Given the description of an element on the screen output the (x, y) to click on. 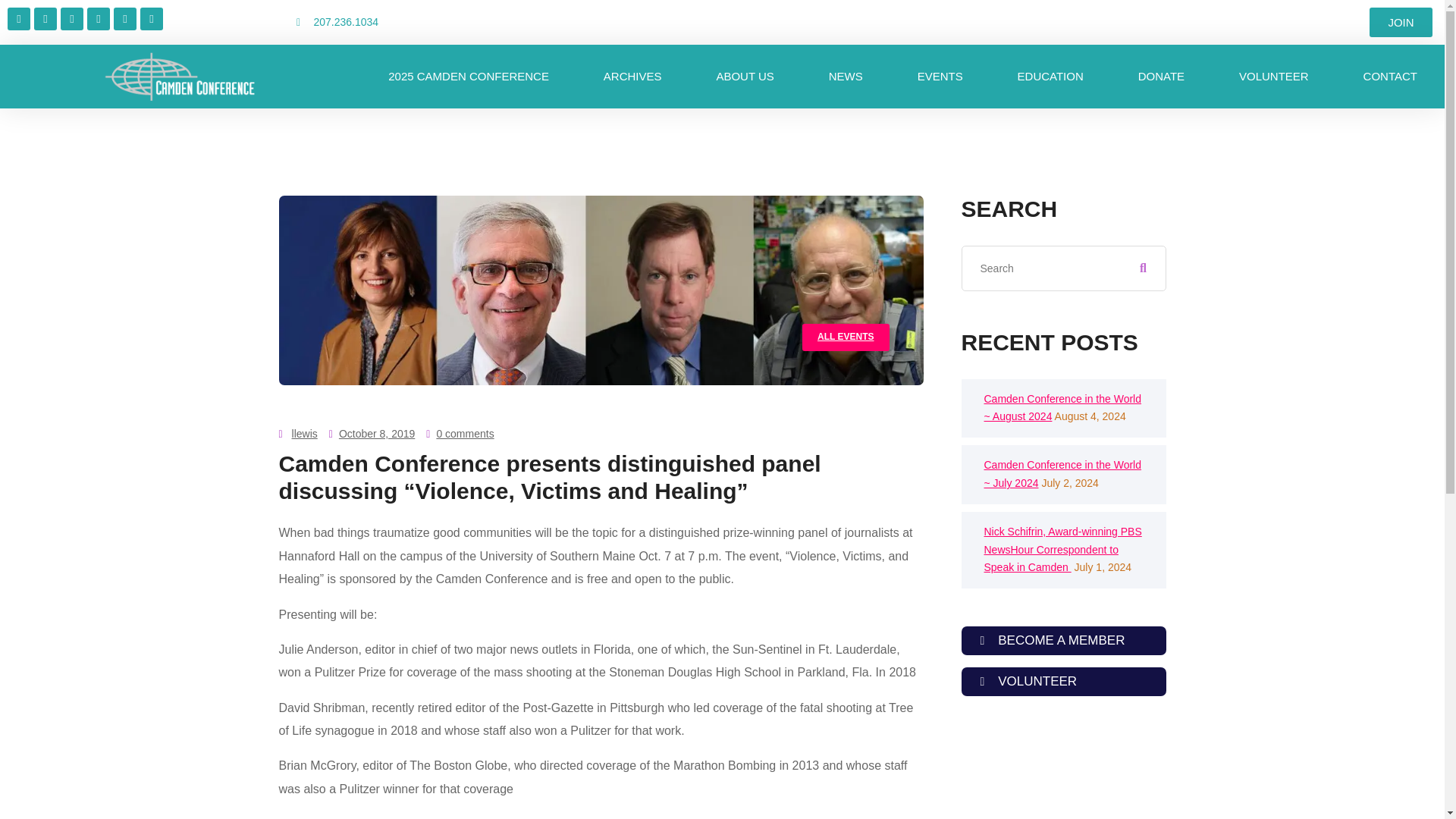
VOLUNTEER (1273, 76)
207.236.1034 (433, 22)
JOIN (1400, 21)
EDUCATION (1050, 76)
DONATE (1160, 76)
EVENTS (939, 76)
ARCHIVES (632, 76)
NEWS (845, 76)
ABOUT US (744, 76)
2025 CAMDEN CONFERENCE (468, 76)
